Given the description of an element on the screen output the (x, y) to click on. 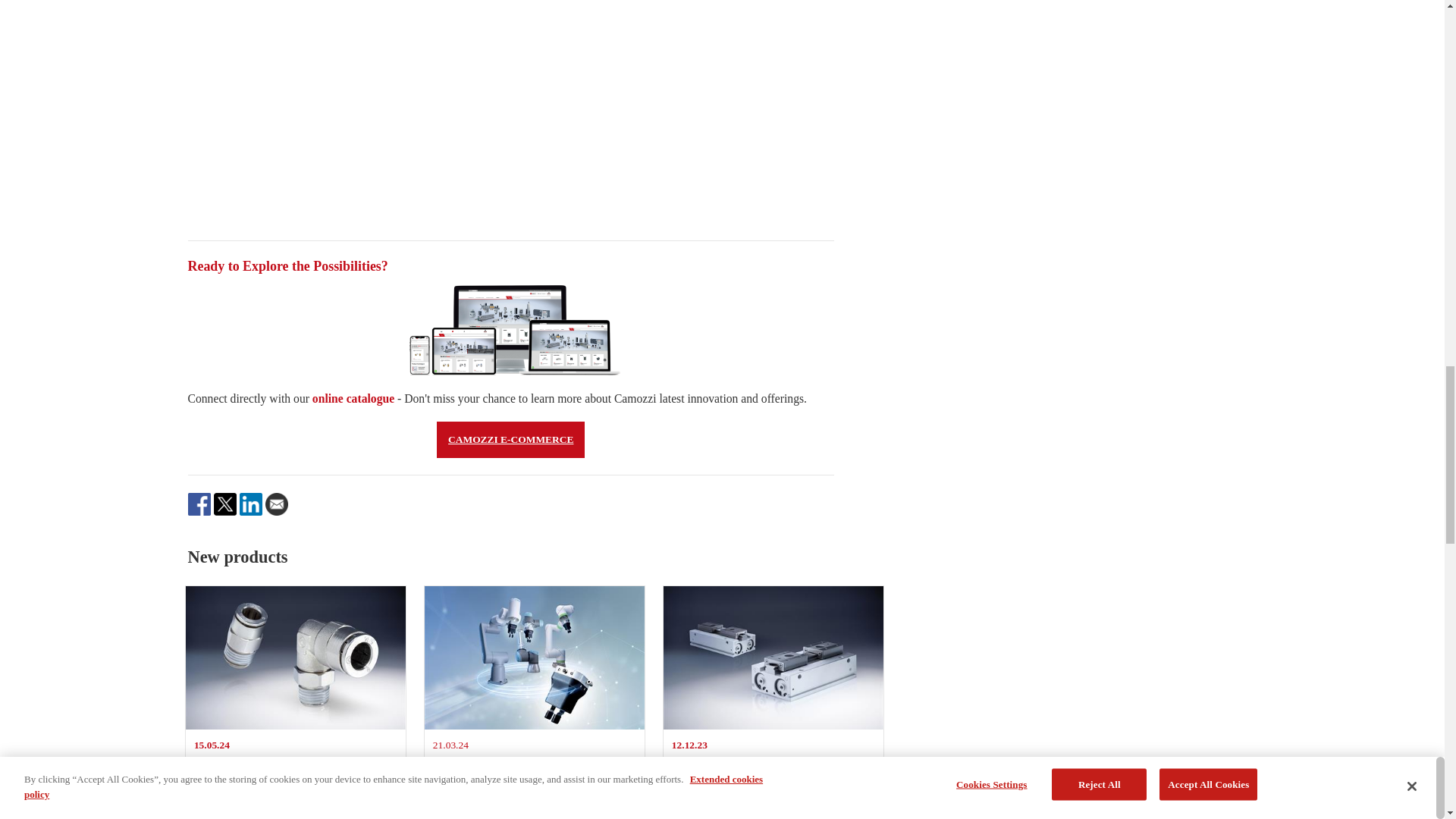
YouTube video player (510, 101)
Camozzi Coated Models Super-rapid Fittings SERIES 6000 (534, 702)
Camozzi Parallel grippers self-centering SERIES CGPL (296, 657)
online catalogue (773, 657)
LinkedIn (353, 398)
CAMOZZI E-COMMERCE (773, 702)
Facebook (251, 504)
Camozzi Collaborative Parallel Gripper SERIES CSSP (510, 439)
Twitter (199, 504)
Email (535, 657)
